Given the description of an element on the screen output the (x, y) to click on. 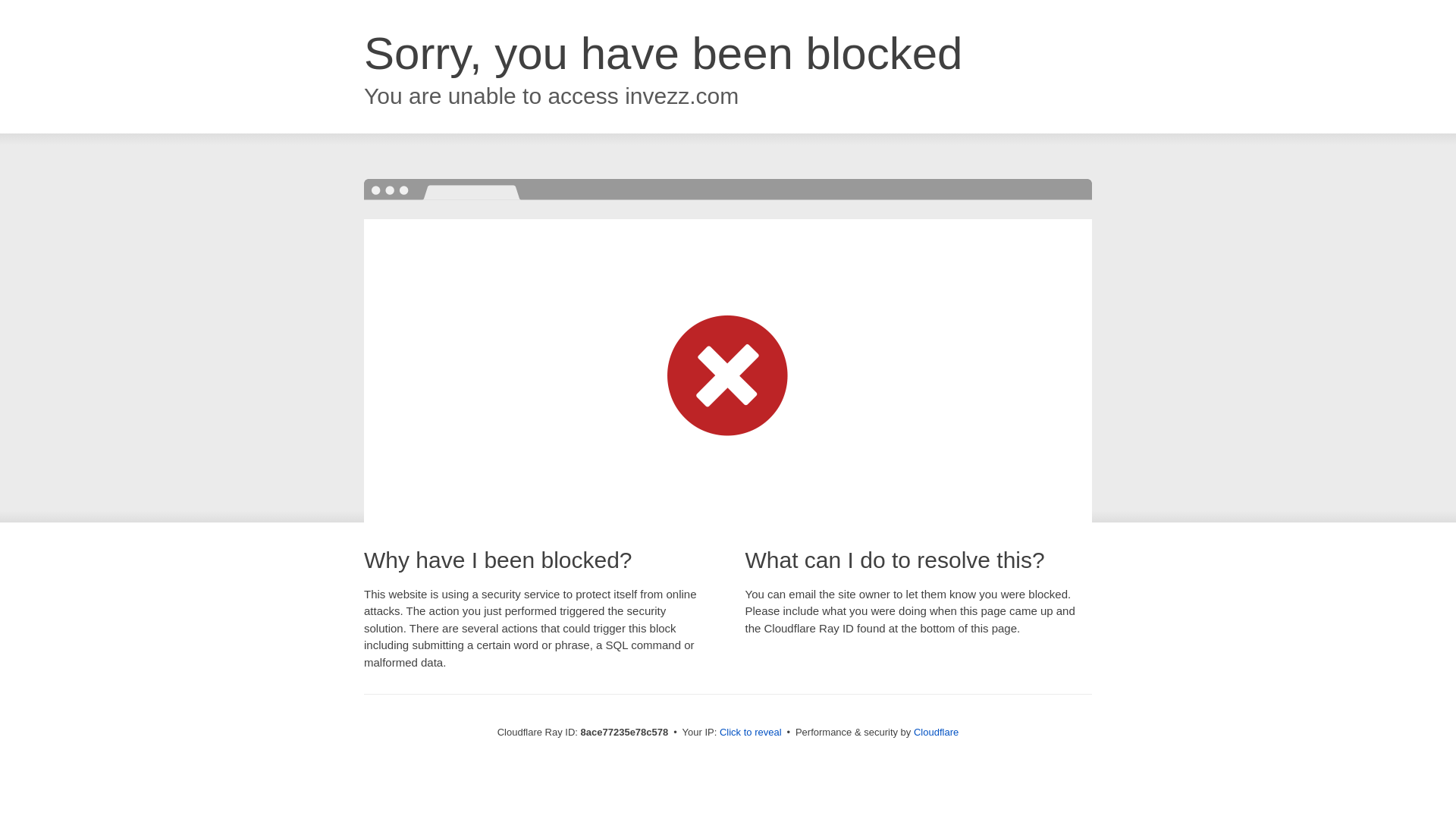
Click to reveal (750, 732)
Cloudflare (936, 731)
